Given the description of an element on the screen output the (x, y) to click on. 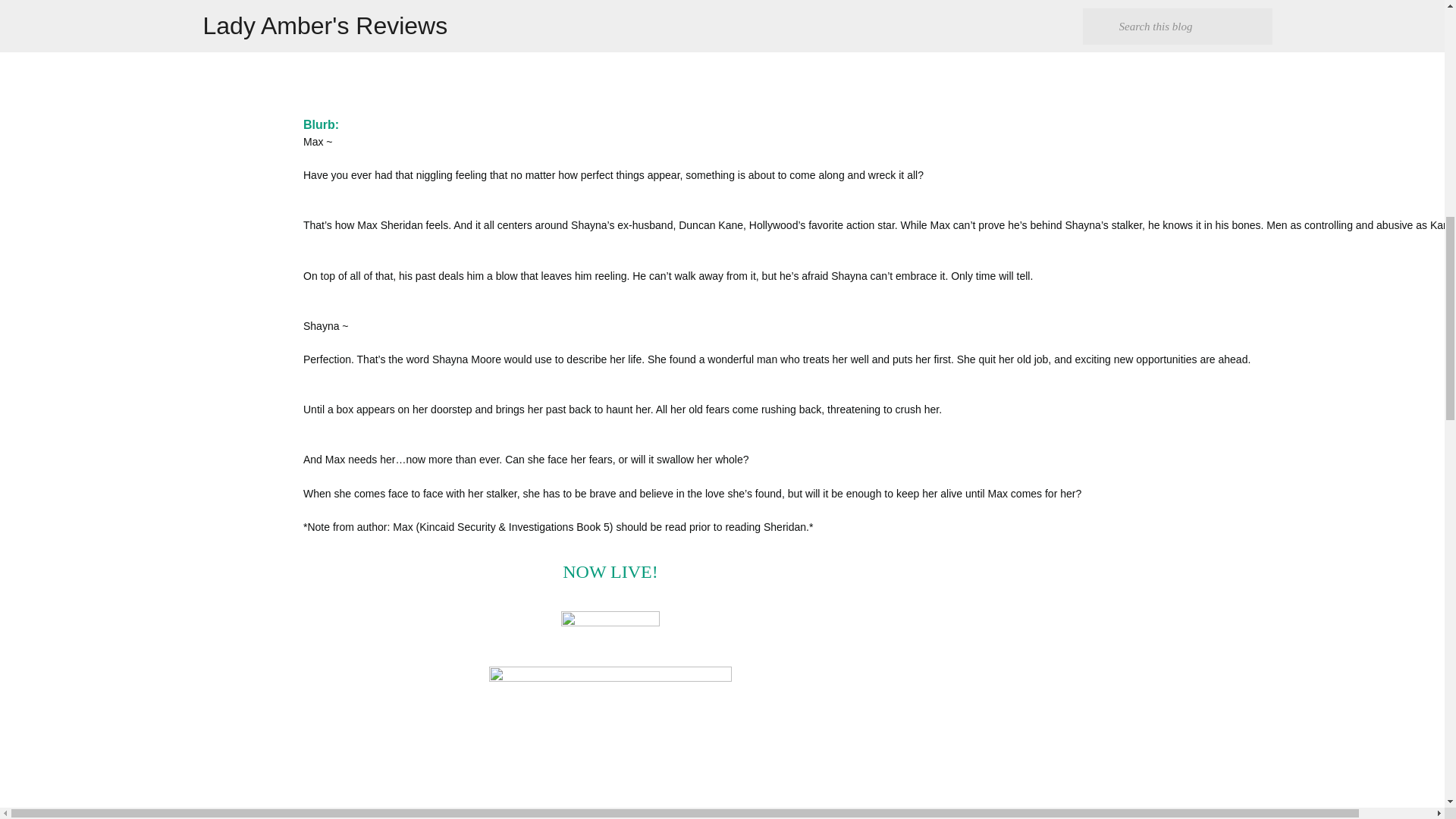
NOW LIVE! (610, 571)
